Given the description of an element on the screen output the (x, y) to click on. 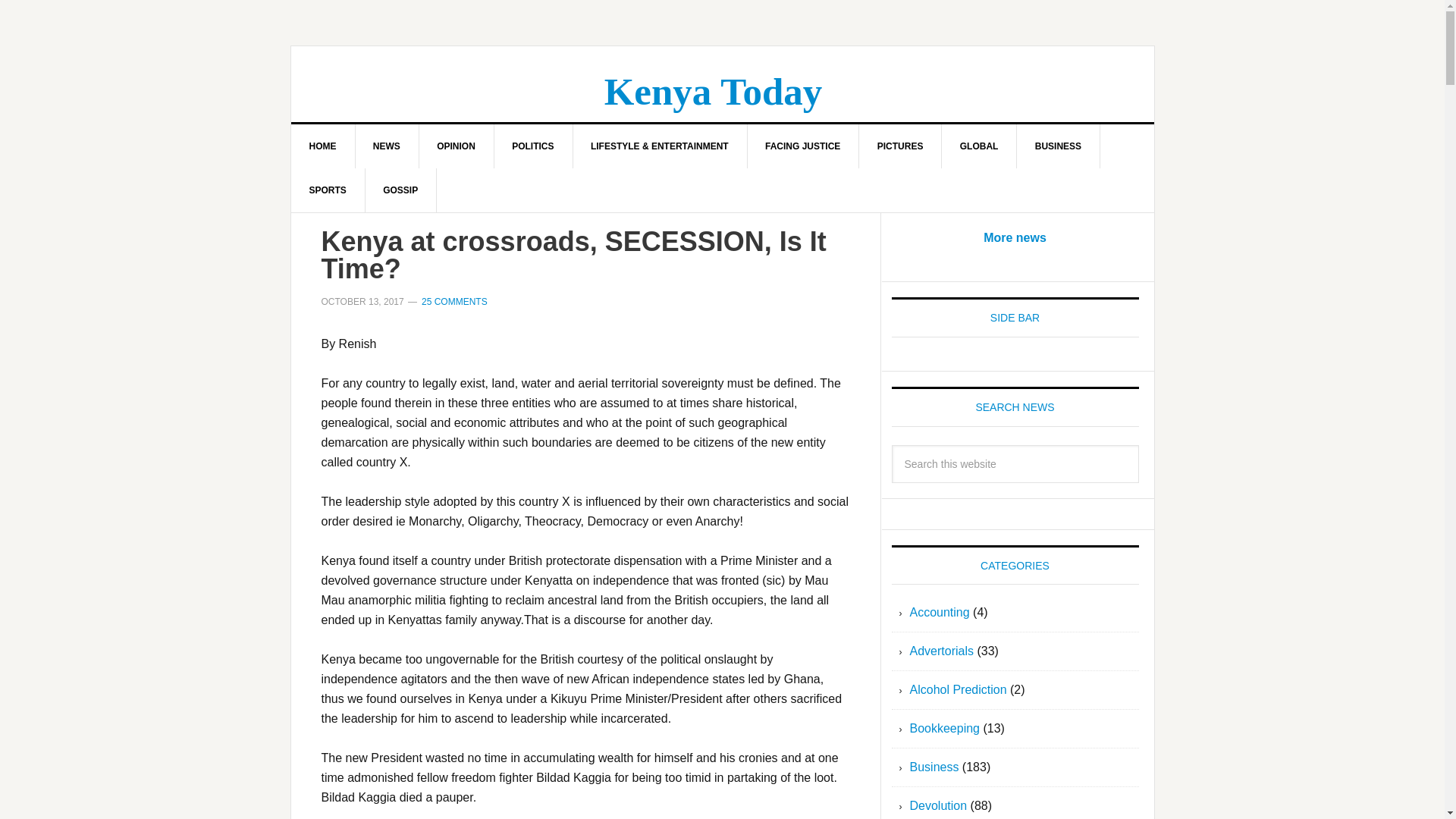
SPORTS (328, 190)
Kenya Today (713, 91)
NEWS (387, 146)
OPINION (457, 146)
25 COMMENTS (454, 301)
GLOBAL (979, 146)
FACING JUSTICE (802, 146)
GOSSIP (400, 190)
BUSINESS (1058, 146)
POLITICS (532, 146)
HOME (323, 146)
PICTURES (900, 146)
